Given the description of an element on the screen output the (x, y) to click on. 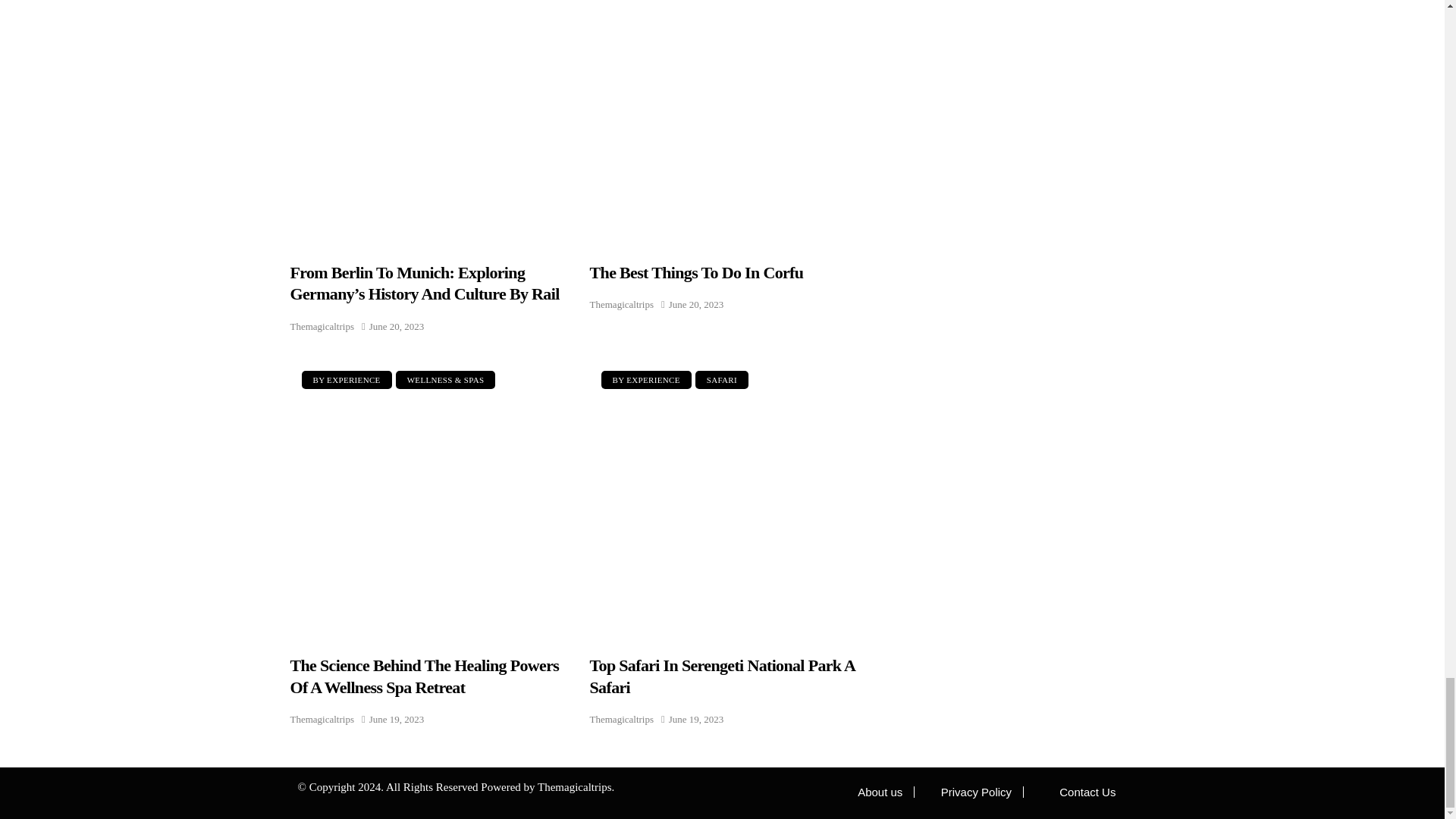
Posts by Themagicaltrips (621, 303)
The Best Things to Do in Corfu (727, 121)
Posts by Themagicaltrips (321, 719)
Posts by Themagicaltrips (621, 719)
top safari in Serengeti National Park a safari (727, 497)
Posts by Themagicaltrips (321, 325)
